Given the description of an element on the screen output the (x, y) to click on. 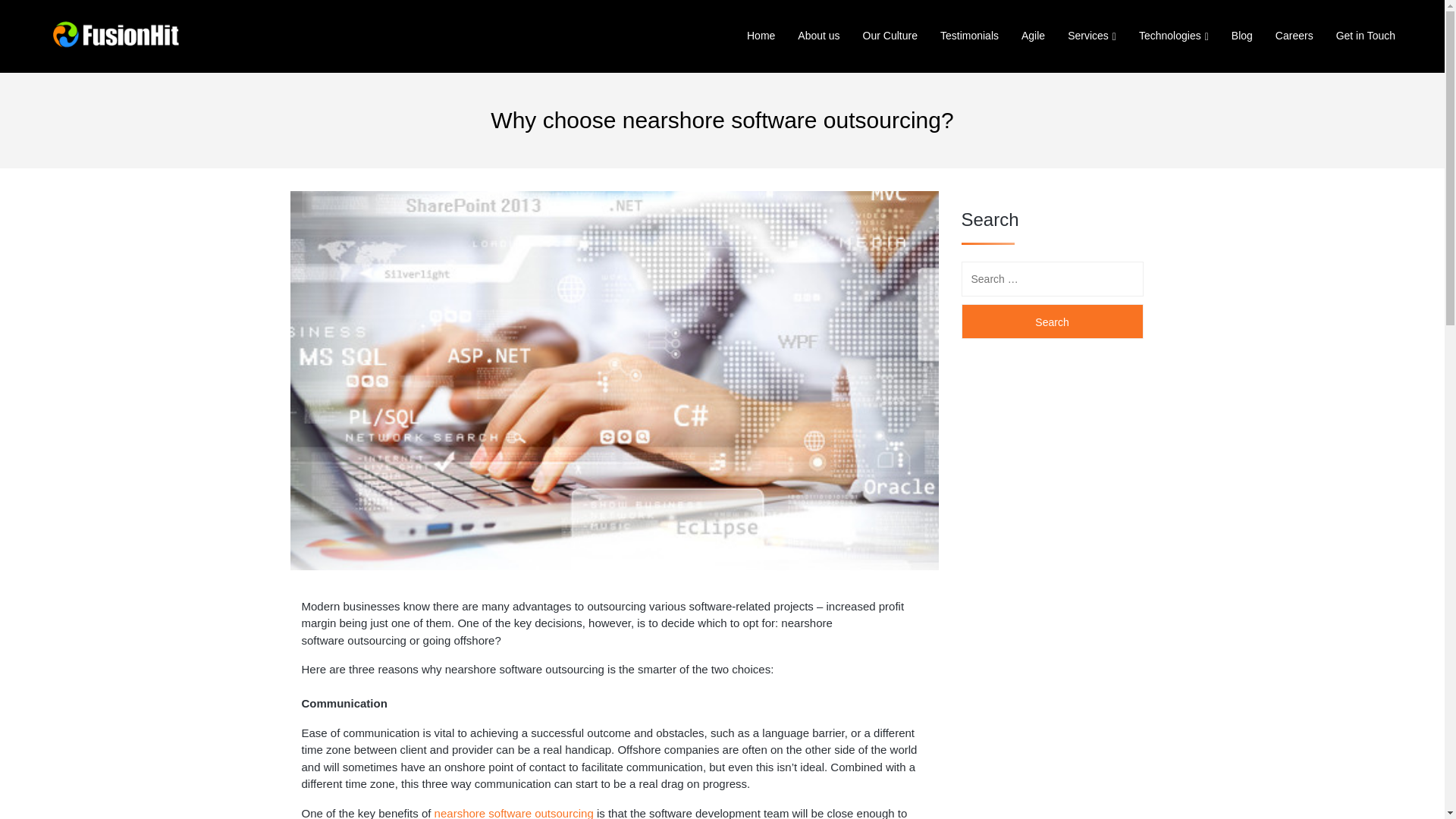
Search (1051, 321)
Technologies (1169, 35)
Careers (1293, 35)
nearshore software development (513, 812)
Search (1051, 321)
Services (1088, 35)
Our Culture (889, 35)
Agile (1033, 35)
Testimonials (969, 35)
Home (760, 35)
nearshore software outsourcing (513, 812)
Blog (1241, 35)
Get in Touch (1365, 35)
About us (818, 35)
